Given the description of an element on the screen output the (x, y) to click on. 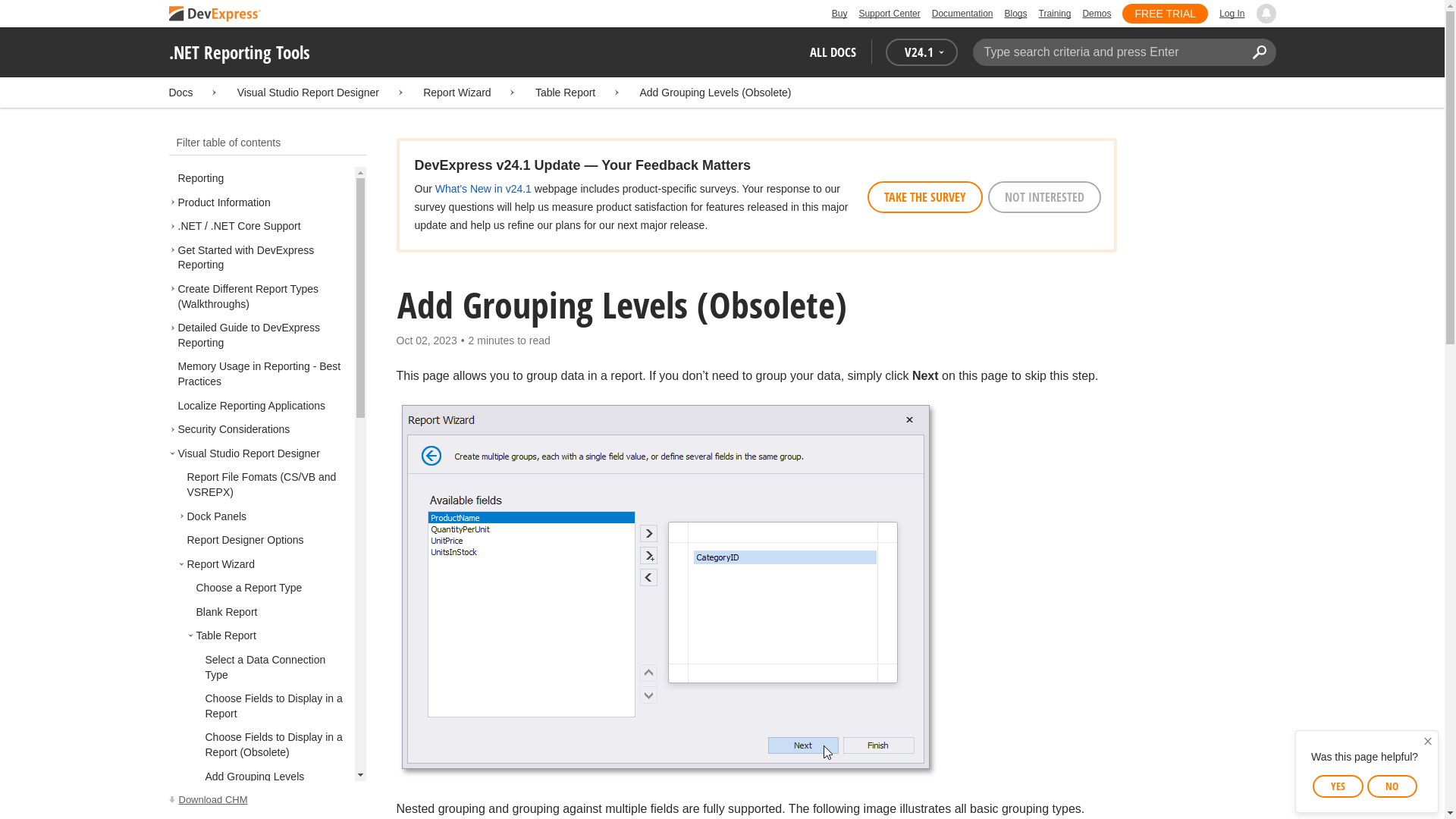
Demos (1095, 13)
Training (1055, 13)
DevExpress (214, 14)
.NET Reporting Tools, v24.1 (266, 800)
Table Report (565, 92)
Support Center (889, 13)
Docs (180, 92)
FREE TRIAL (1165, 13)
Report Wizard (456, 92)
Blogs (1015, 13)
Search (1259, 52)
ALL DOCS (832, 52)
V 24.1 (921, 52)
Log In (1232, 13)
Documentation (961, 13)
